Given the description of an element on the screen output the (x, y) to click on. 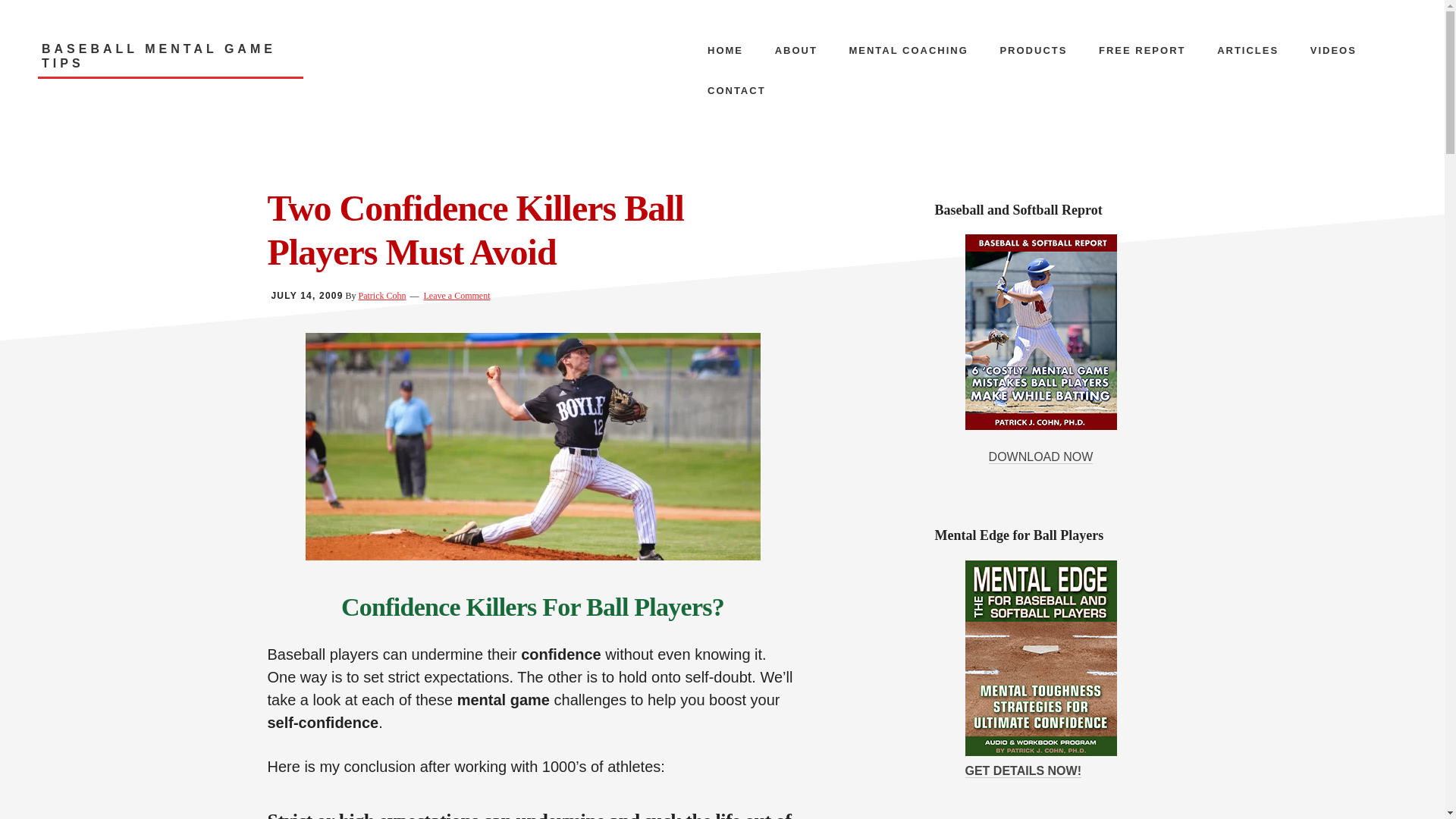
Leave a Comment (456, 295)
HOME (725, 50)
BASEBALL MENTAL GAME TIPS (169, 59)
VIDEOS (1333, 50)
CONTACT (736, 90)
MENTAL COACHING (907, 50)
PRODUCTS (1032, 50)
ARTICLES (1248, 50)
Patrick Cohn (382, 295)
ABOUT (796, 50)
FREE REPORT (1141, 50)
